Given the description of an element on the screen output the (x, y) to click on. 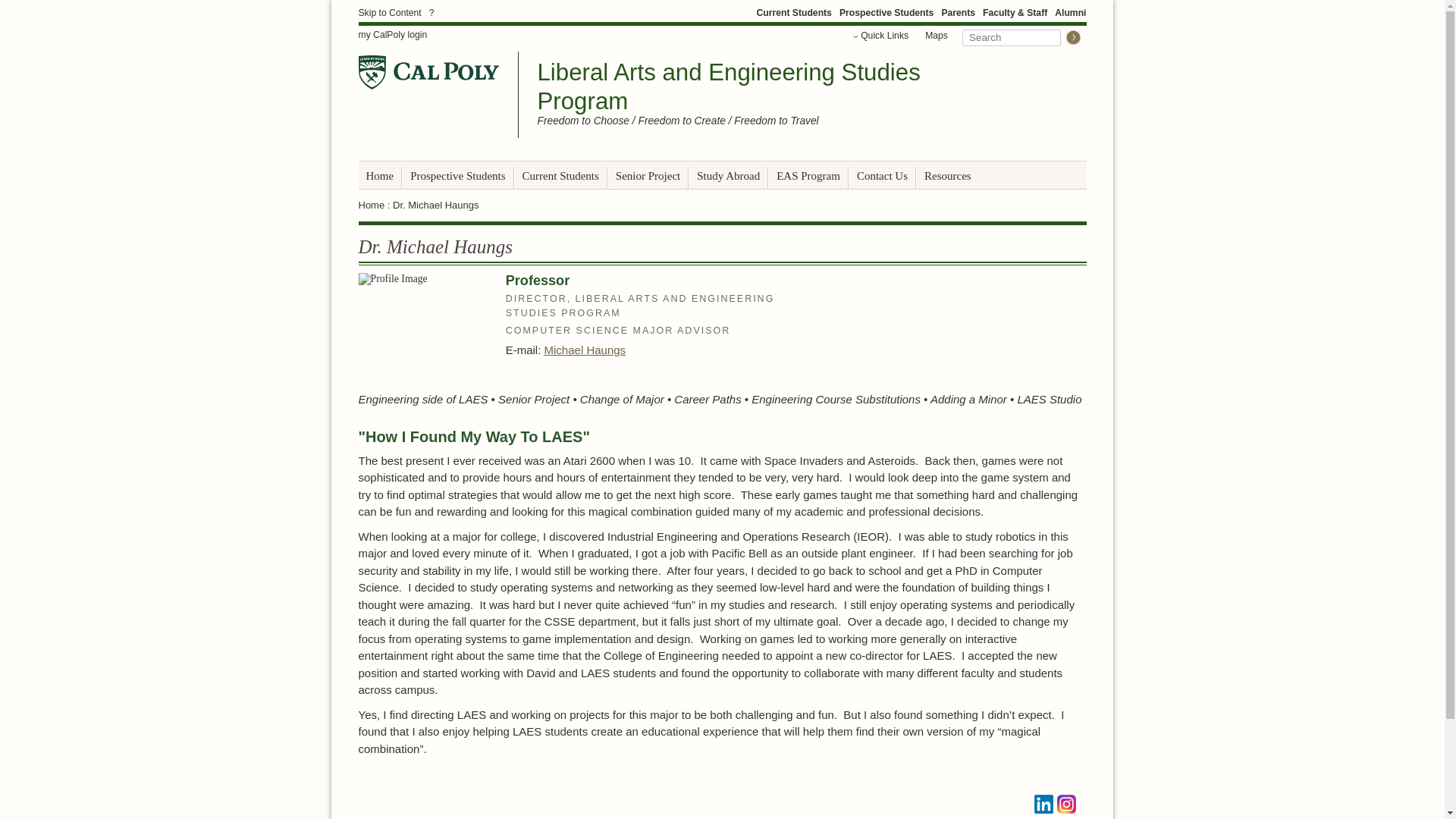
Go to Cal Poly Home (427, 72)
my CalPoly login (392, 34)
Search this site (1011, 37)
Search Form (1021, 36)
Submit Search Query (1072, 37)
skip to content (389, 12)
Current Students (793, 12)
Parents (957, 12)
Maps (936, 35)
my CalPoly login (392, 34)
Skip to Content (389, 12)
Quick Links (881, 35)
Alumni (1070, 12)
Maps (936, 35)
Prospective Students (886, 12)
